Given the description of an element on the screen output the (x, y) to click on. 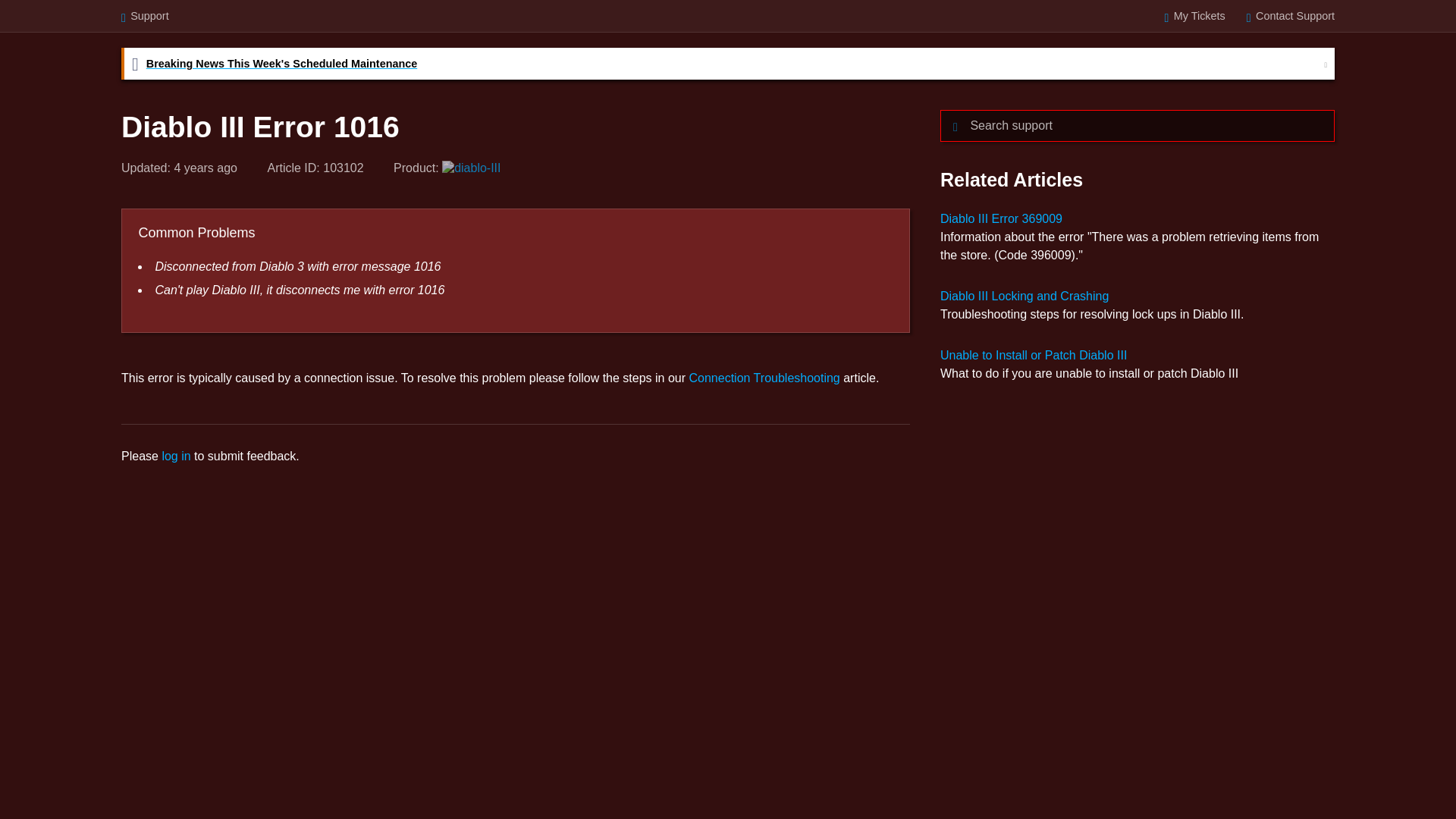
Breaking News This Week's Scheduled Maintenance (718, 63)
Diablo III Locking and Crashing (1024, 295)
My Tickets (1194, 15)
Support (144, 15)
Diablo III Error 369009 (1001, 218)
Unable to Install or Patch Diablo III (1033, 354)
Connection Troubleshooting (764, 377)
log in (175, 455)
Contact Support (1290, 15)
